Given the description of an element on the screen output the (x, y) to click on. 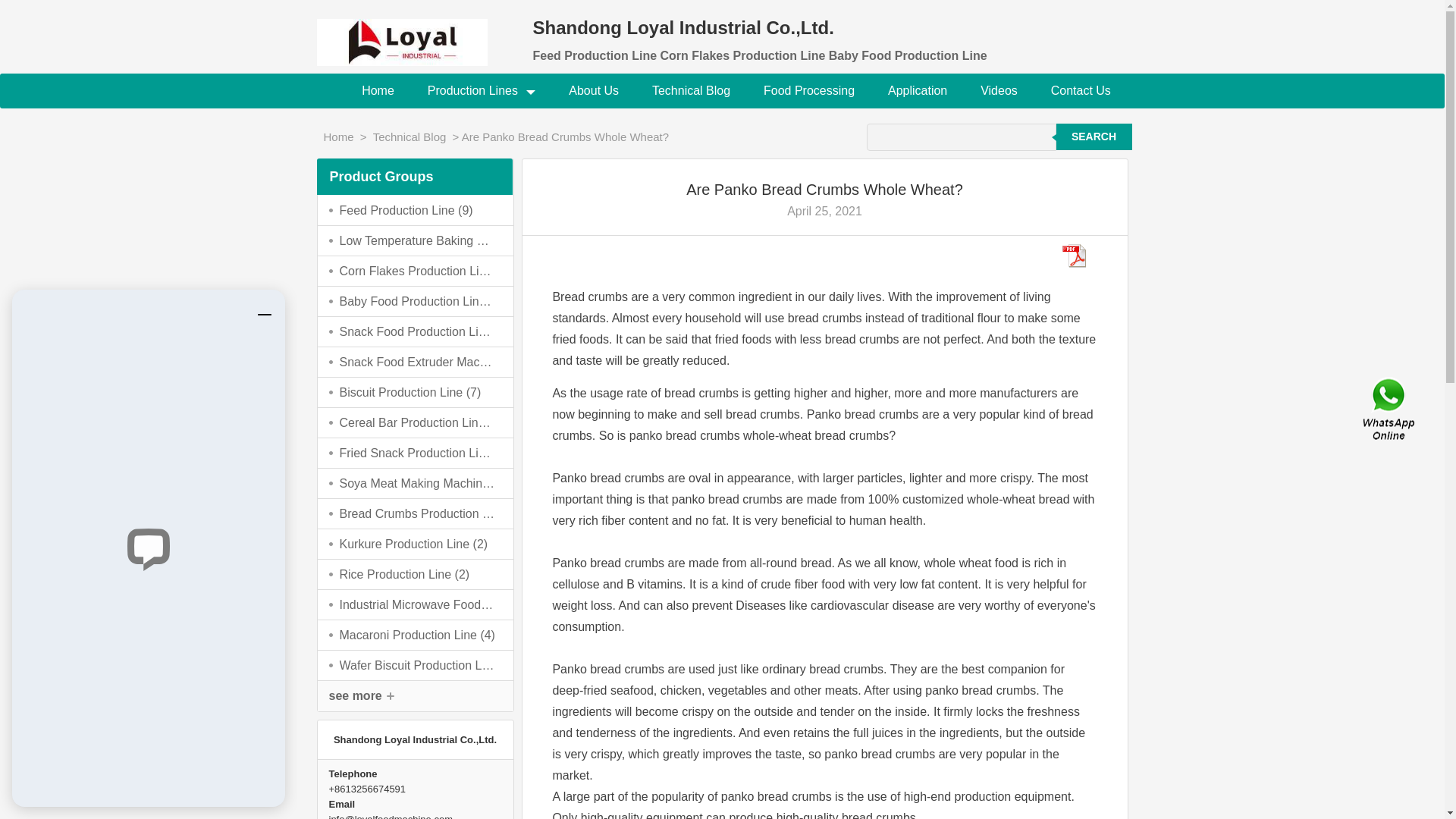
Home (377, 90)
About Us (593, 90)
Technical Blog (691, 90)
Production Lines (481, 90)
Contact Us (1080, 90)
Application (917, 90)
Production Lines (481, 90)
Food Processing (808, 90)
Shandong Loyal Industrial Co.,Ltd. (414, 33)
Videos (998, 90)
Home (377, 90)
